Given the description of an element on the screen output the (x, y) to click on. 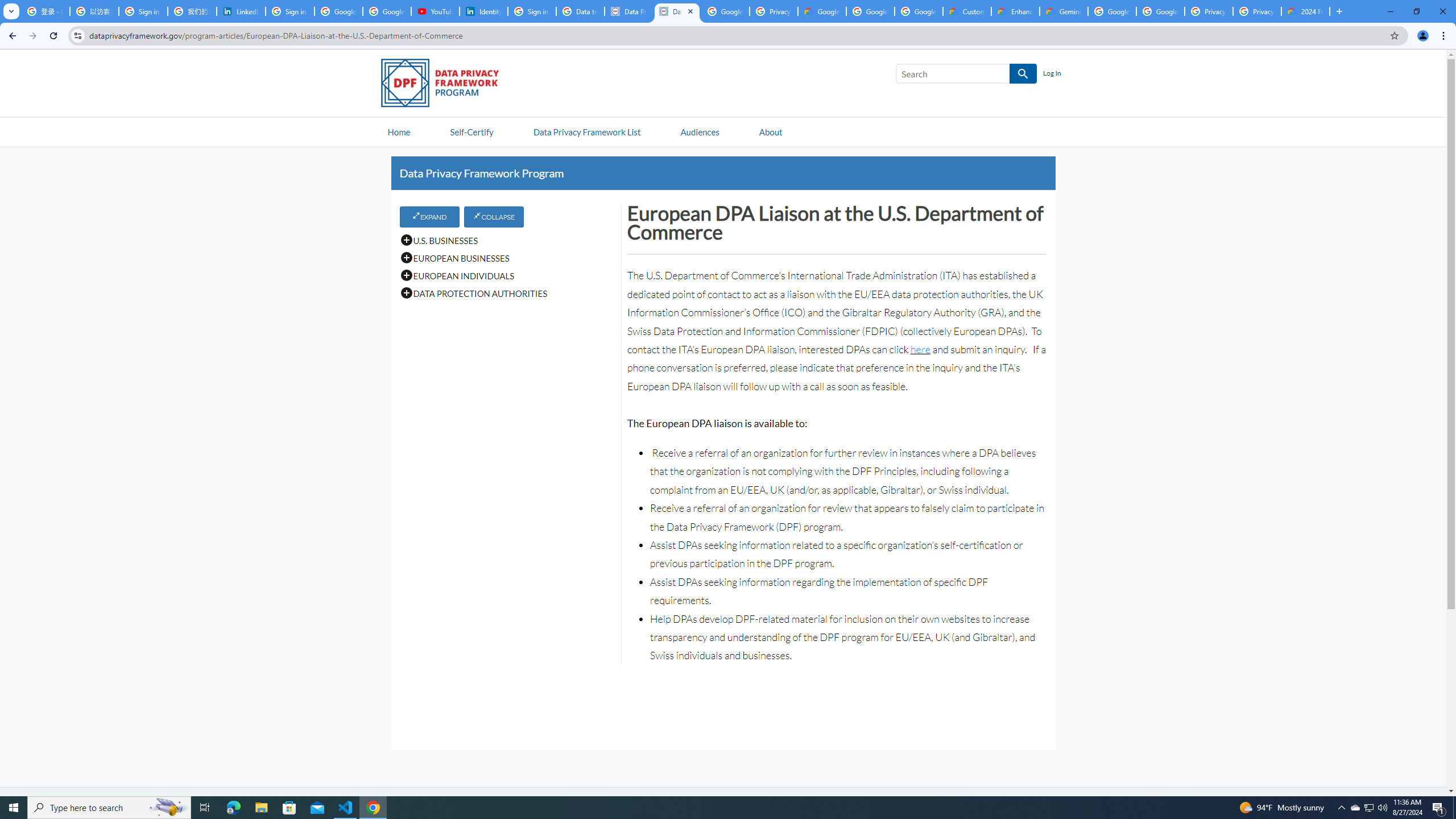
Google Cloud Platform (1112, 11)
SEARCH (1022, 73)
Google Cloud Terms Directory | Google Cloud (822, 11)
Log In (1051, 73)
Customer Care | Google Cloud (966, 11)
Data Privacy Framework (676, 11)
